Given the description of an element on the screen output the (x, y) to click on. 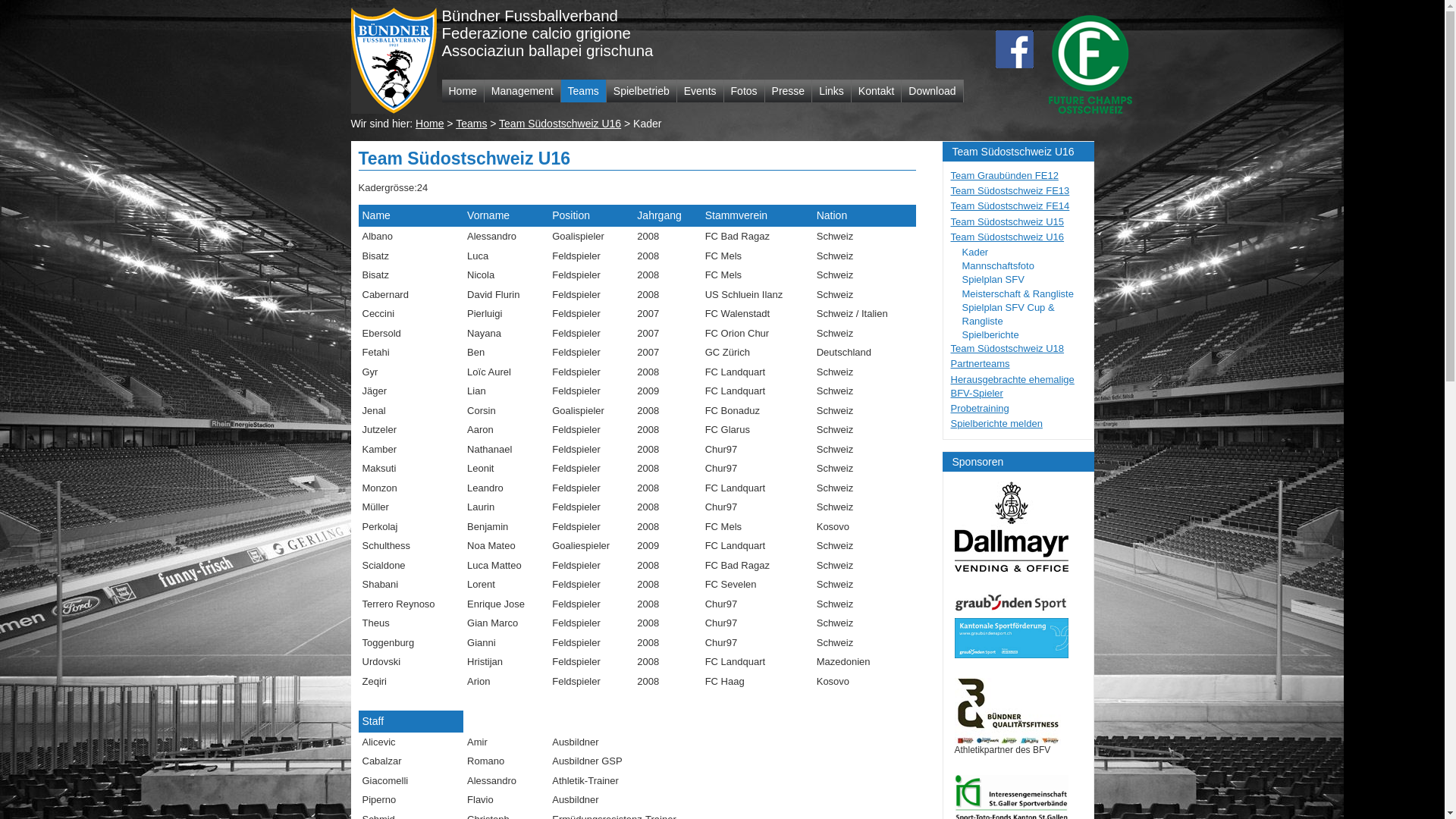
Spielplan SFV Meisterschaft & Rangliste Element type: text (1017, 285)
Presse Element type: text (788, 90)
Mannschaftsfoto Element type: text (997, 265)
Spielbetrieb Element type: text (641, 90)
Teams Element type: text (470, 123)
Probetraining Element type: text (979, 408)
Links Element type: text (831, 90)
Download Element type: text (932, 90)
Herausgebrachte ehemalige BFV-Spieler Element type: text (1012, 385)
Events Element type: text (700, 90)
Spielberichte Element type: text (989, 334)
Management Element type: text (522, 90)
Kader Element type: text (974, 251)
Partnerteams Element type: text (980, 363)
Home Element type: text (462, 90)
Home Element type: text (429, 123)
Spielplan SFV Cup & Rangliste Element type: text (1007, 313)
Teams Element type: text (583, 90)
Spielberichte melden Element type: text (996, 423)
Kontakt Element type: text (876, 90)
Fotos Element type: text (744, 90)
